Given the description of an element on the screen output the (x, y) to click on. 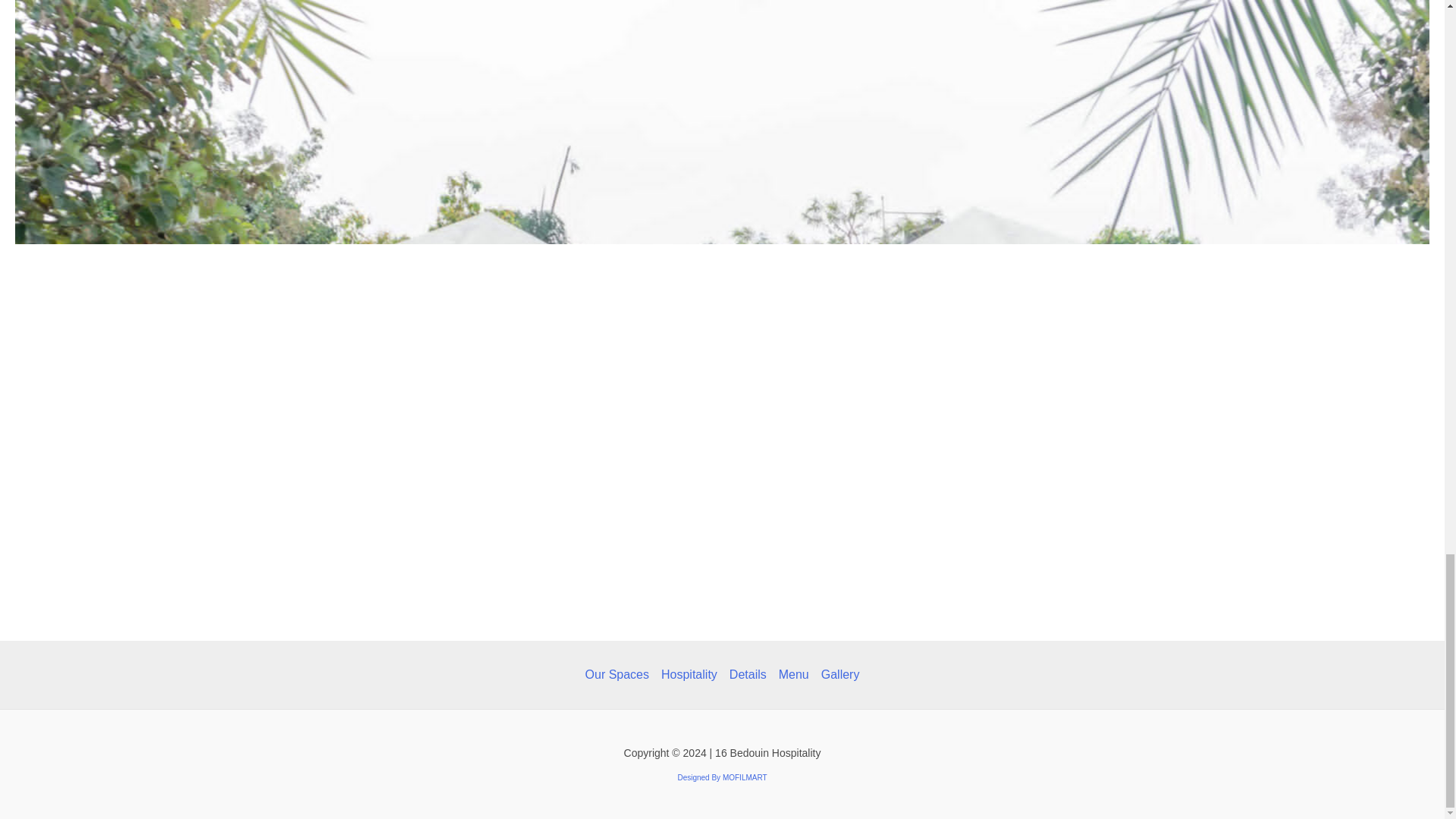
Designed By MOFILMART (722, 777)
Gallery (837, 674)
Menu (794, 674)
Our Spaces (620, 674)
Details (748, 674)
Hospitality (689, 674)
